Given the description of an element on the screen output the (x, y) to click on. 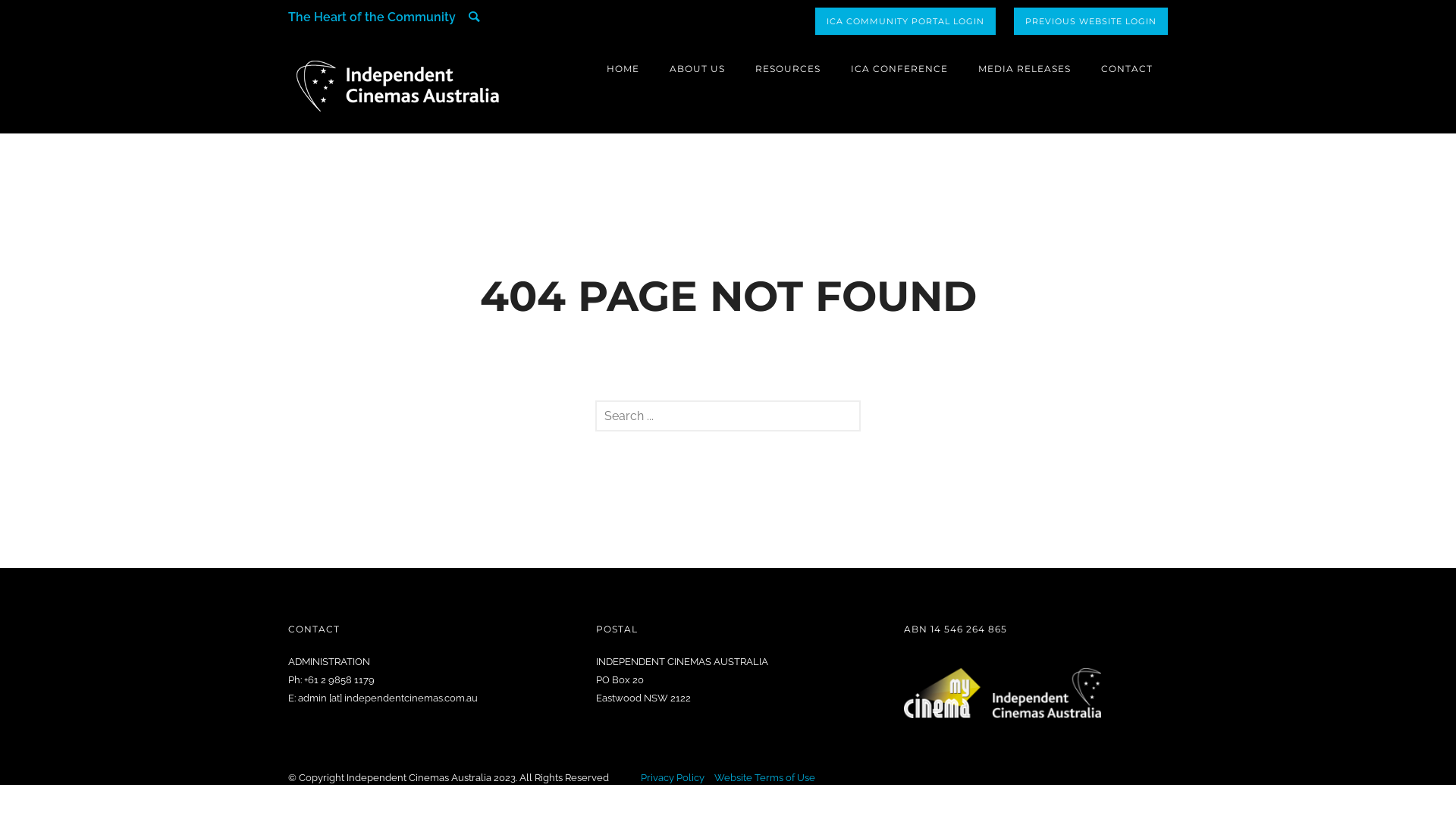
ABOUT US Element type: text (697, 68)
MEDIA RELEASES Element type: text (1024, 68)
Website Terms of Use Element type: text (764, 777)
ICA CONFERENCE Element type: text (899, 68)
PREVIOUS WEBSITE LOGIN Element type: text (1090, 20)
RESOURCES Element type: text (787, 68)
ICA COMMUNITY PORTAL LOGIN Element type: text (905, 20)
Privacy Policy Element type: text (672, 777)
CONTACT Element type: text (1126, 68)
HOME Element type: text (622, 68)
